Given the description of an element on the screen output the (x, y) to click on. 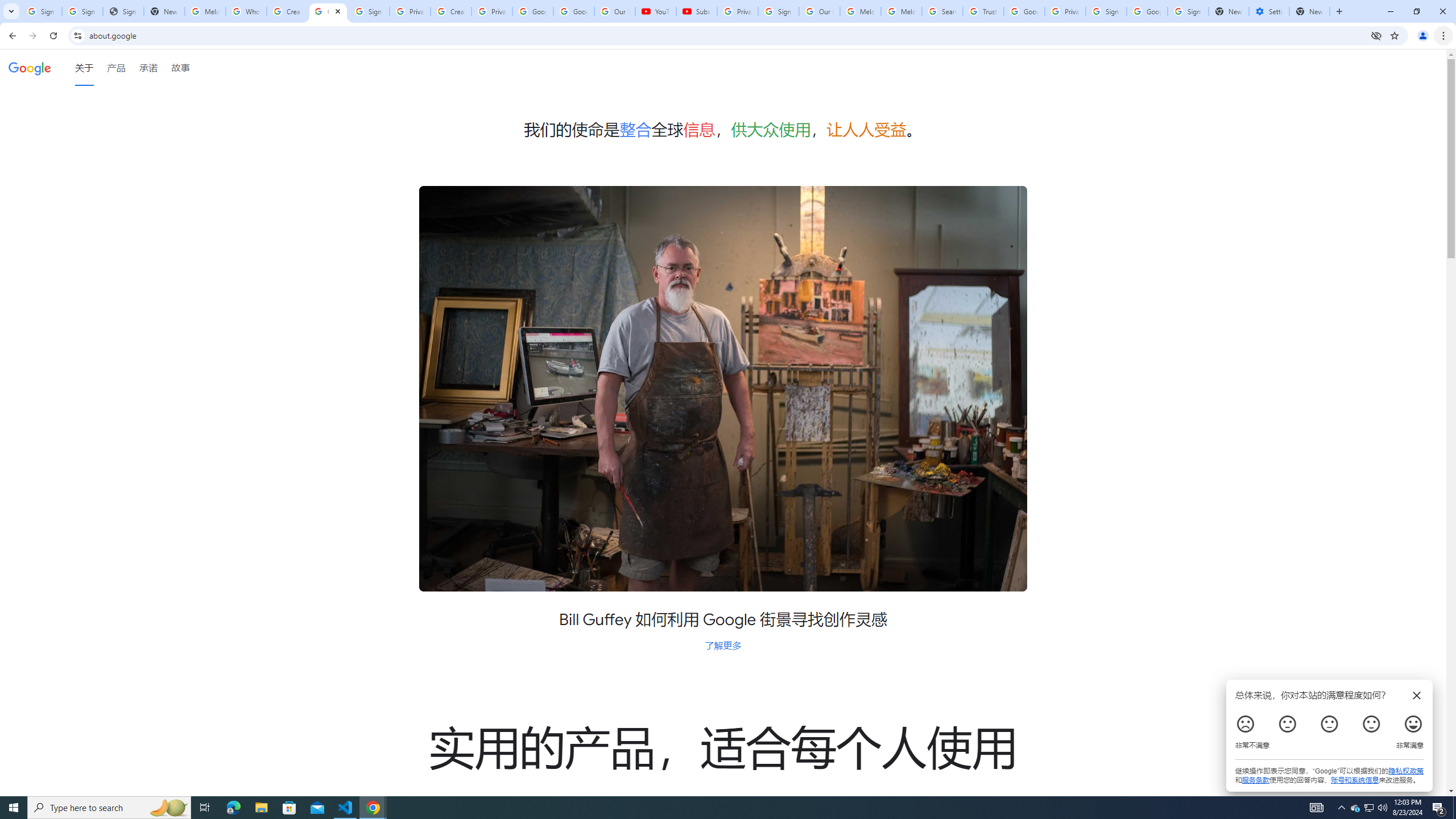
Trusted Information and Content - Google Safety Center (983, 11)
New Tab (1309, 11)
Sign in - Google Accounts (777, 11)
Settings - Addresses and more (1268, 11)
